Given the description of an element on the screen output the (x, y) to click on. 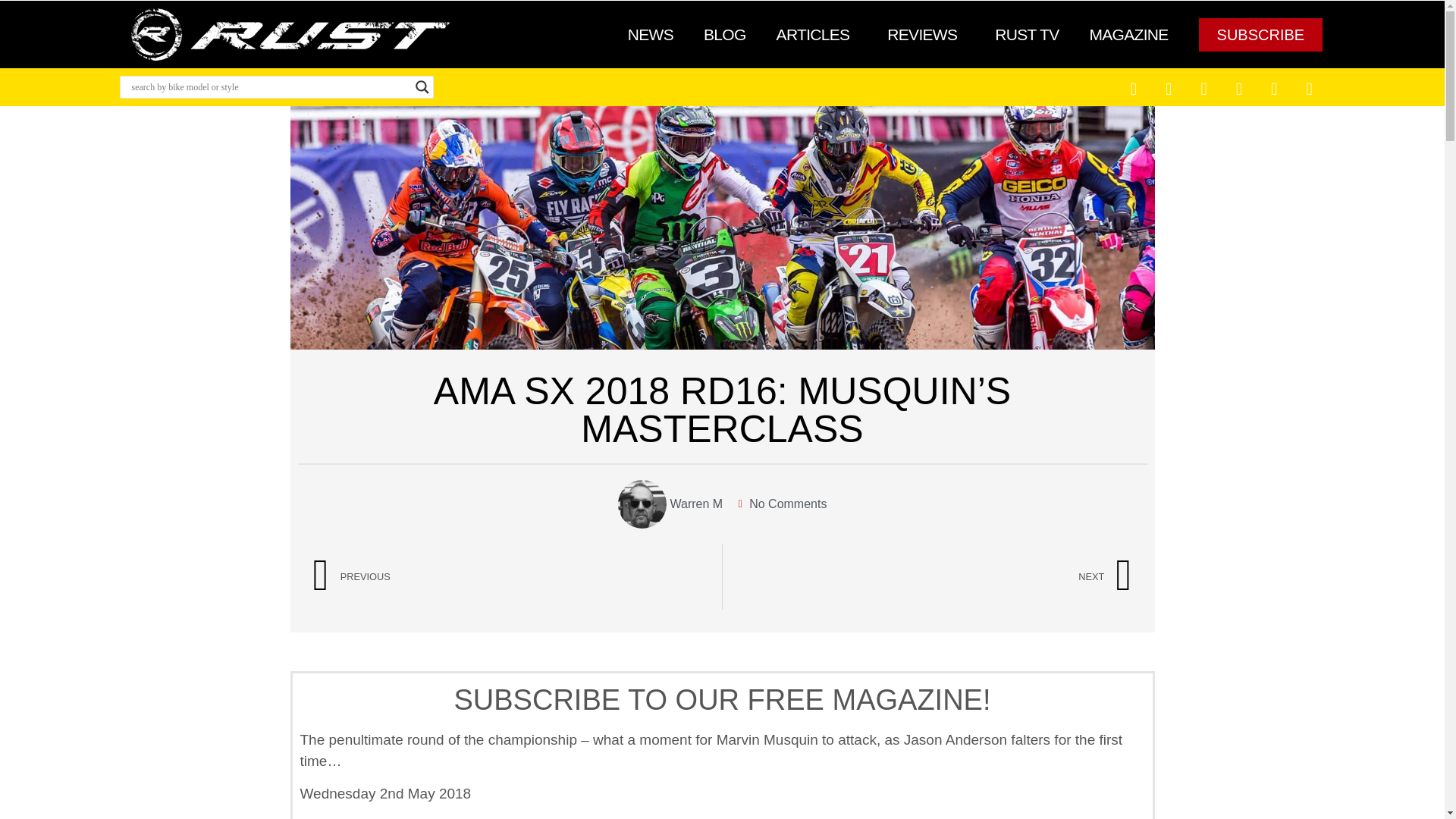
RUST TV (1026, 34)
MAGAZINE (1128, 34)
ARTICLES (816, 34)
REVIEWS (925, 34)
SUBSCRIBE (1260, 34)
BLOG (724, 34)
NEWS (650, 34)
